Given the description of an element on the screen output the (x, y) to click on. 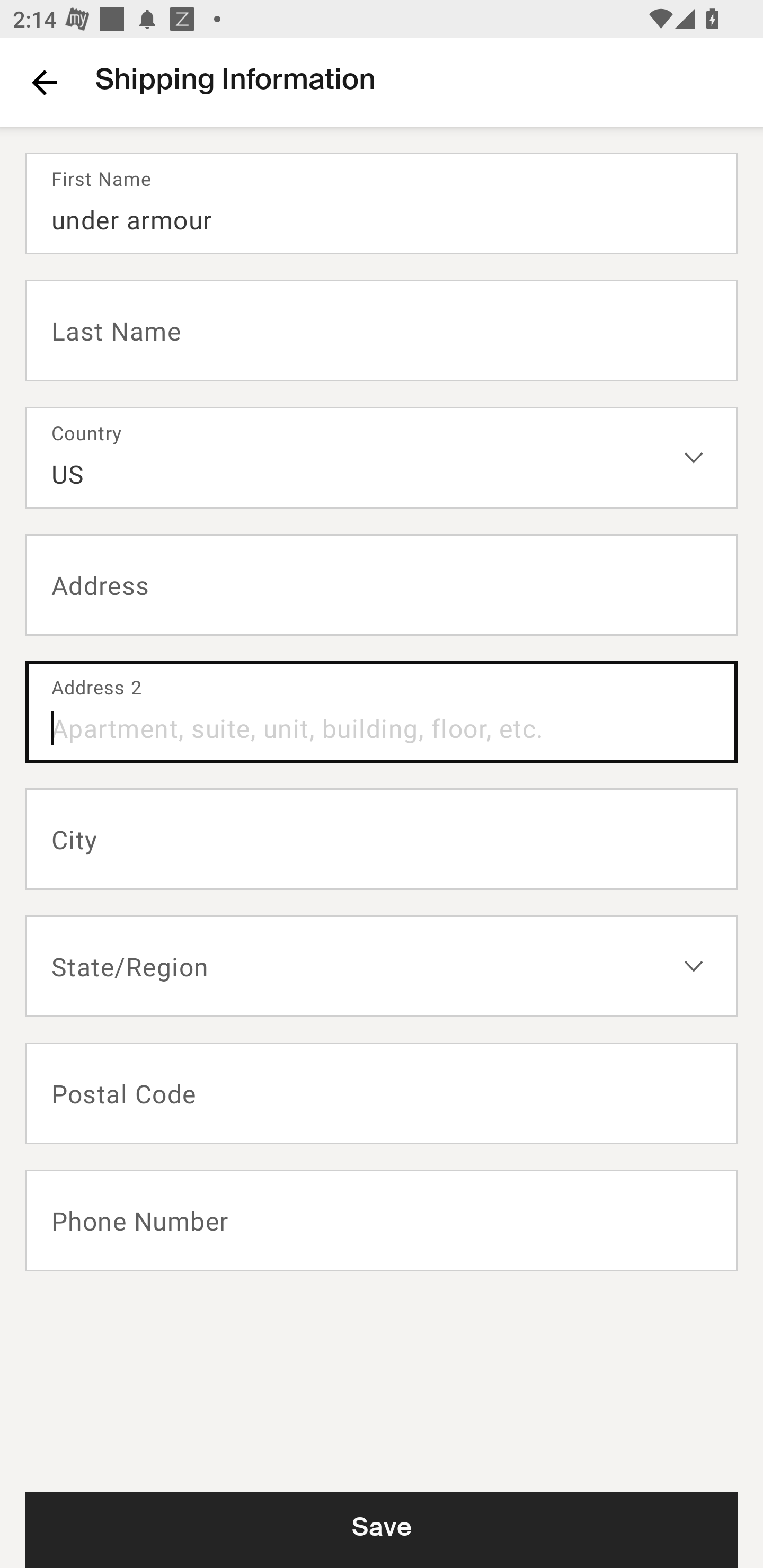
Navigate up (44, 82)
under armour
 First Name (381, 203)
Last Name (381, 330)
Address (381, 584)
City (381, 839)
Postal Code (381, 1093)
Phone Number (381, 1220)
Save (381, 1529)
